Given the description of an element on the screen output the (x, y) to click on. 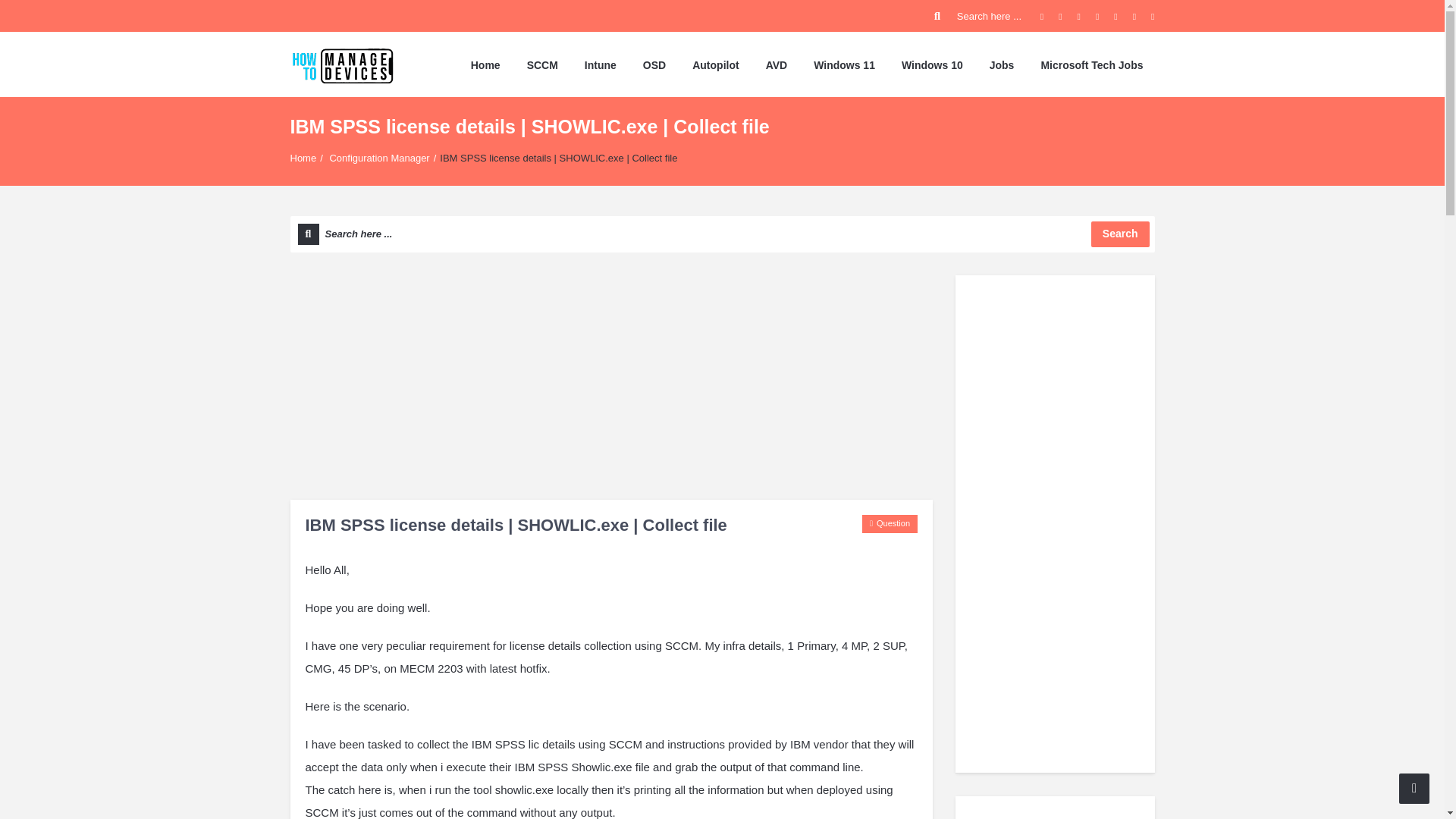
Search here ... (721, 234)
Search here ... (979, 15)
HTMD Forum (341, 64)
Search here ... (721, 234)
Search here ... (979, 15)
